Given the description of an element on the screen output the (x, y) to click on. 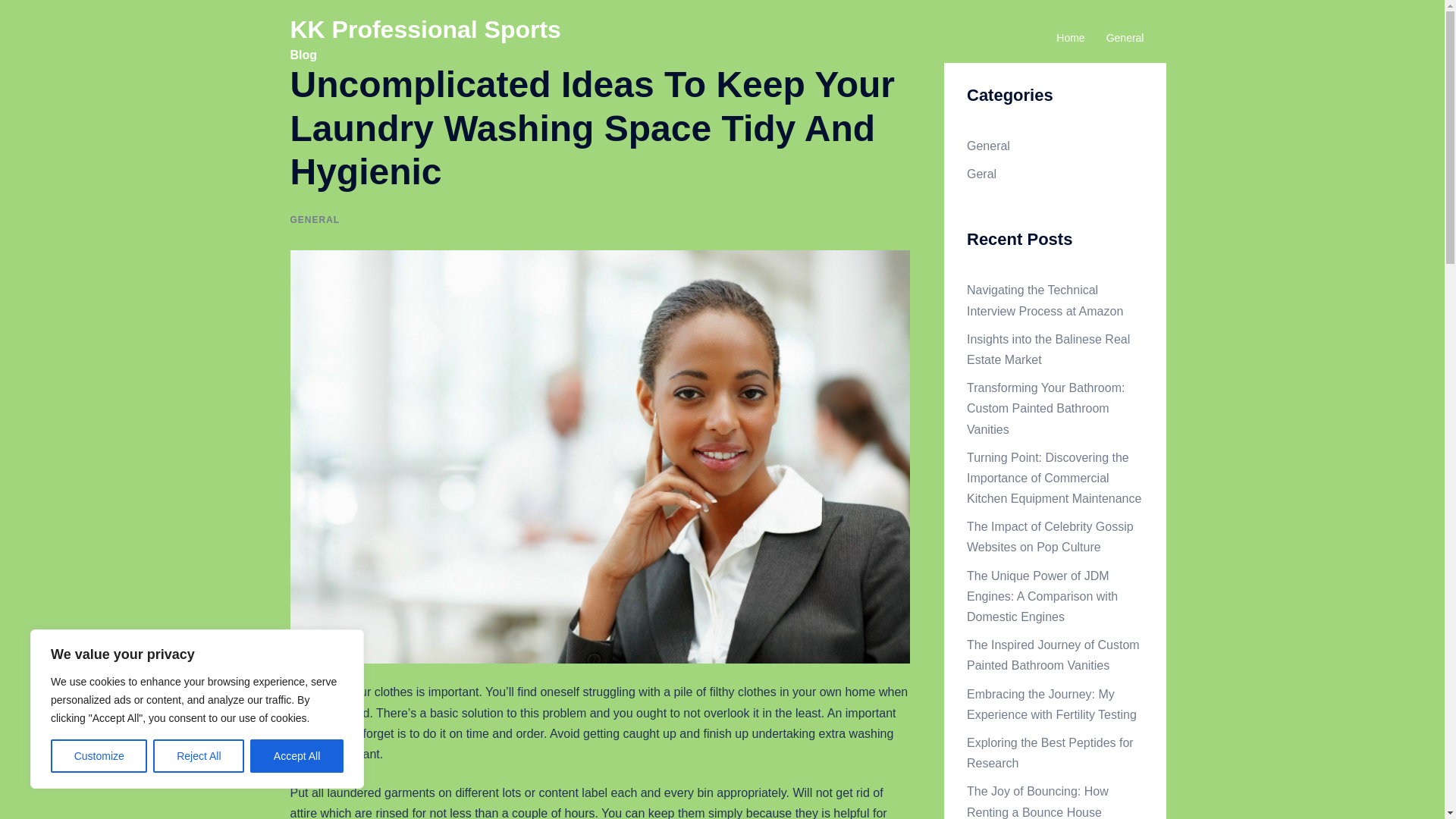
General (988, 145)
Customize (98, 756)
GENERAL (314, 219)
Insights into the Balinese Real Estate Market (1047, 349)
General (1125, 38)
KK Professional Sports (424, 29)
Geral (980, 173)
Accept All (296, 756)
Home (1070, 38)
Navigating the Technical Interview Process at Amazon (1044, 299)
The Impact of Celebrity Gossip Websites on Pop Culture (1050, 536)
Reject All (198, 756)
Transforming Your Bathroom: Custom Painted Bathroom Vanities (1045, 407)
